Given the description of an element on the screen output the (x, y) to click on. 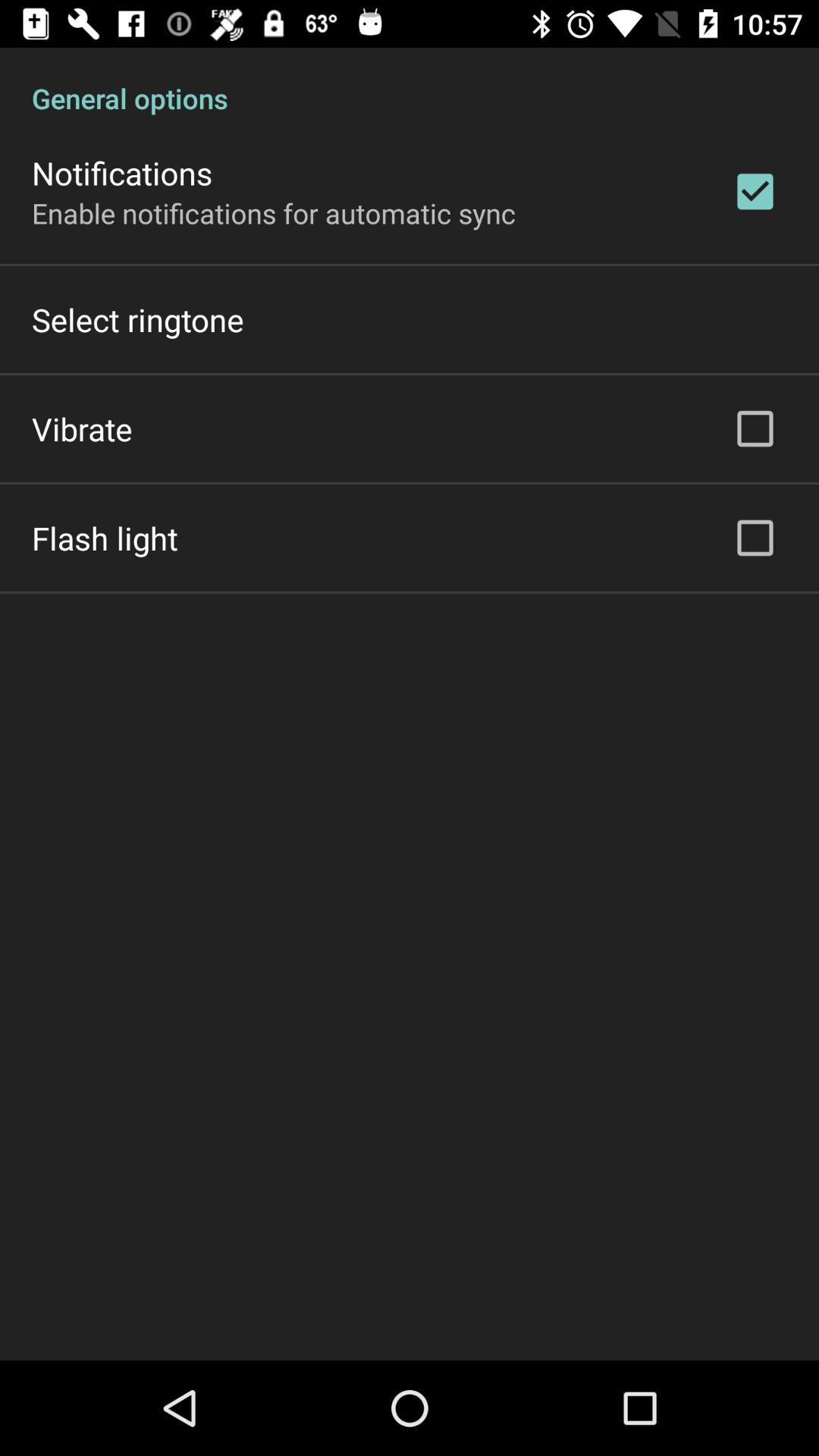
click the flash light (104, 537)
